Given the description of an element on the screen output the (x, y) to click on. 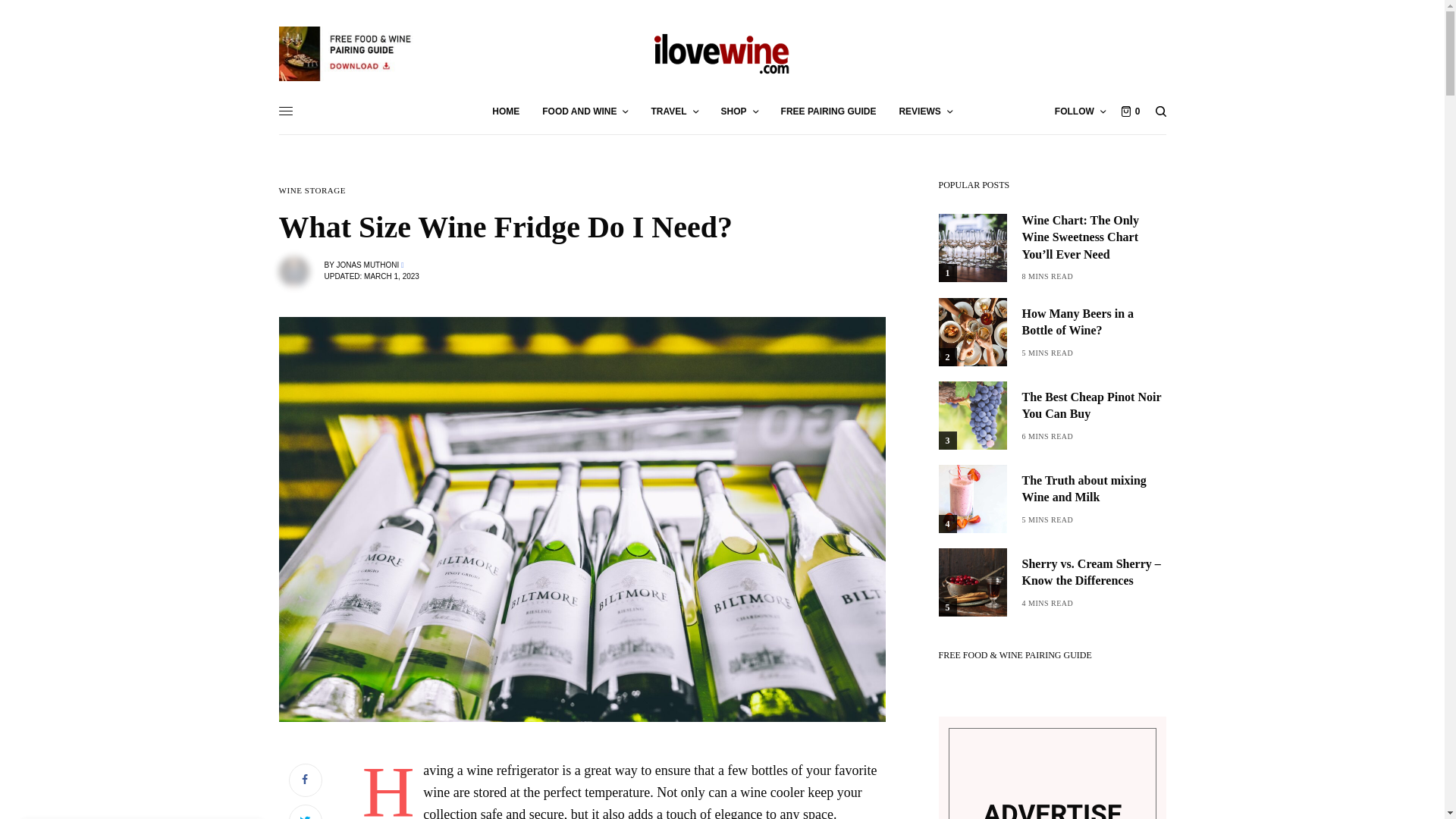
FREE PAIRING GUIDE (828, 111)
I Love Wine (721, 53)
FOOD AND WINE (584, 111)
The Truth about mixing Wine and Milk (1094, 489)
Posts by Jonas Muthoni (367, 265)
TRAVEL (673, 111)
REVIEWS (925, 111)
The Best Cheap Pinot Noir You Can Buy (1094, 406)
WINE STORAGE (312, 190)
FOLLOW (1079, 111)
How Many Beers in a Bottle of Wine? (1094, 322)
